Given the description of an element on the screen output the (x, y) to click on. 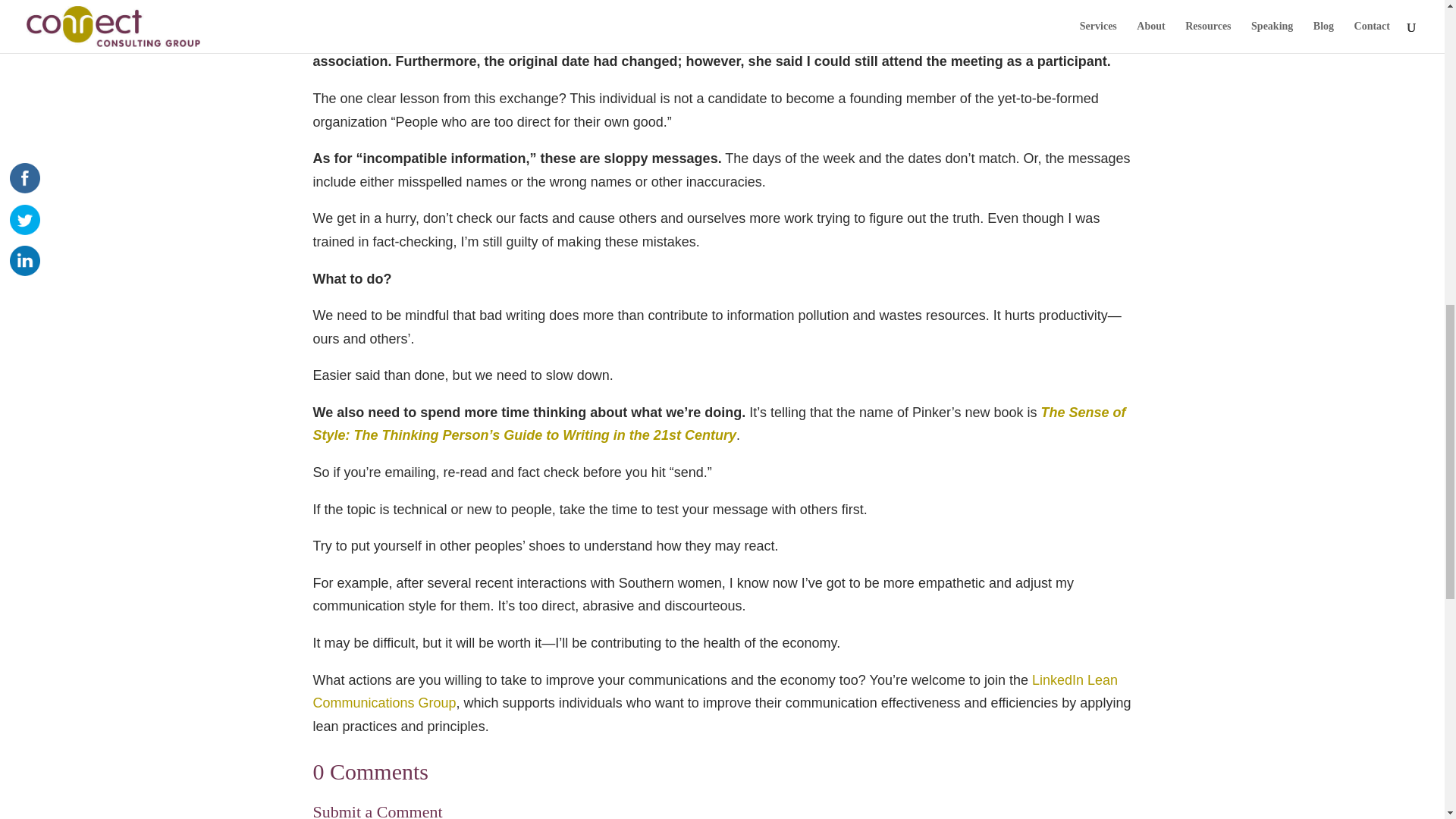
LinkedIn Lean Communications Group (715, 691)
